Given the description of an element on the screen output the (x, y) to click on. 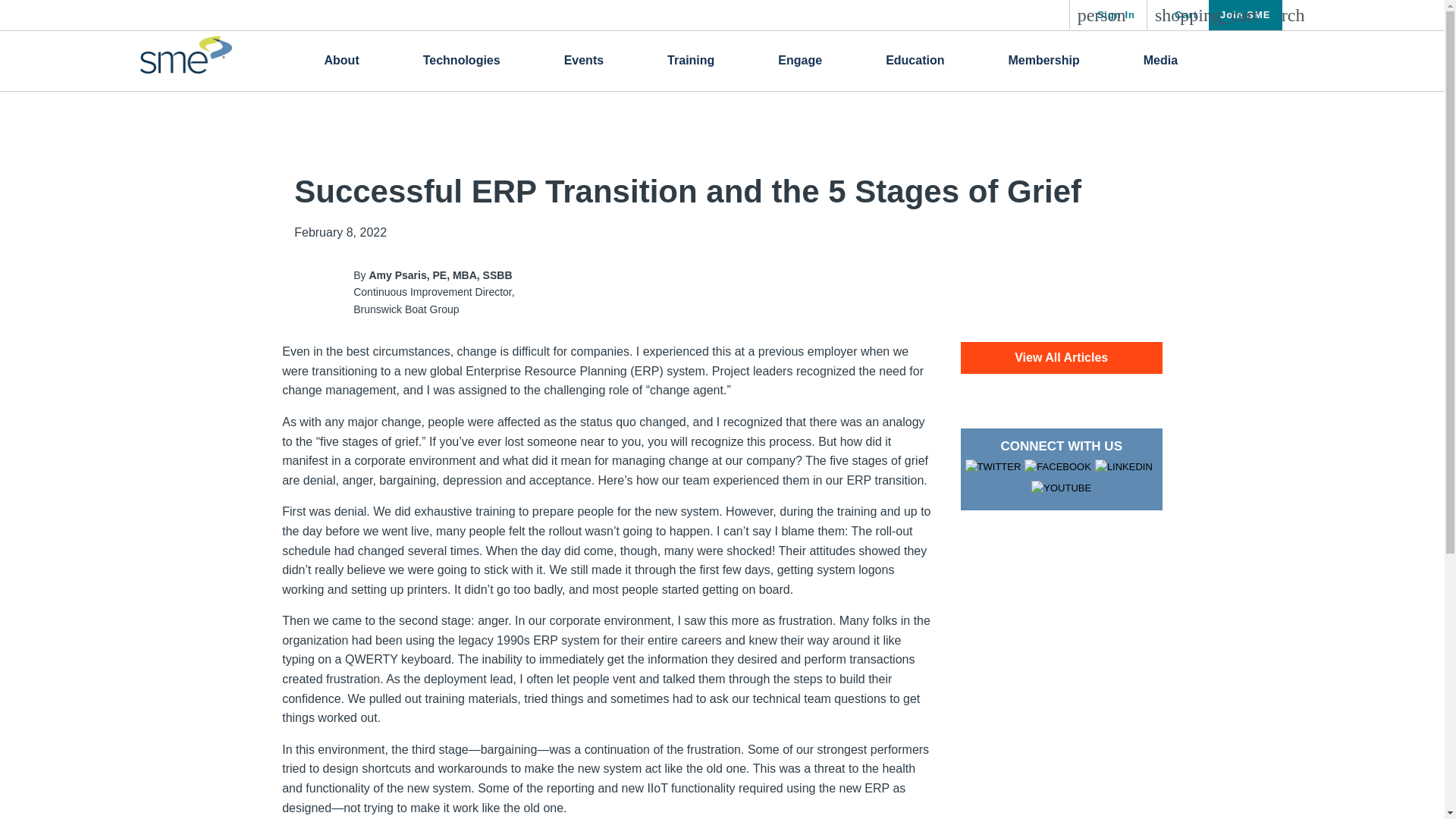
Join SME (1107, 15)
search (1245, 15)
